Given the description of an element on the screen output the (x, y) to click on. 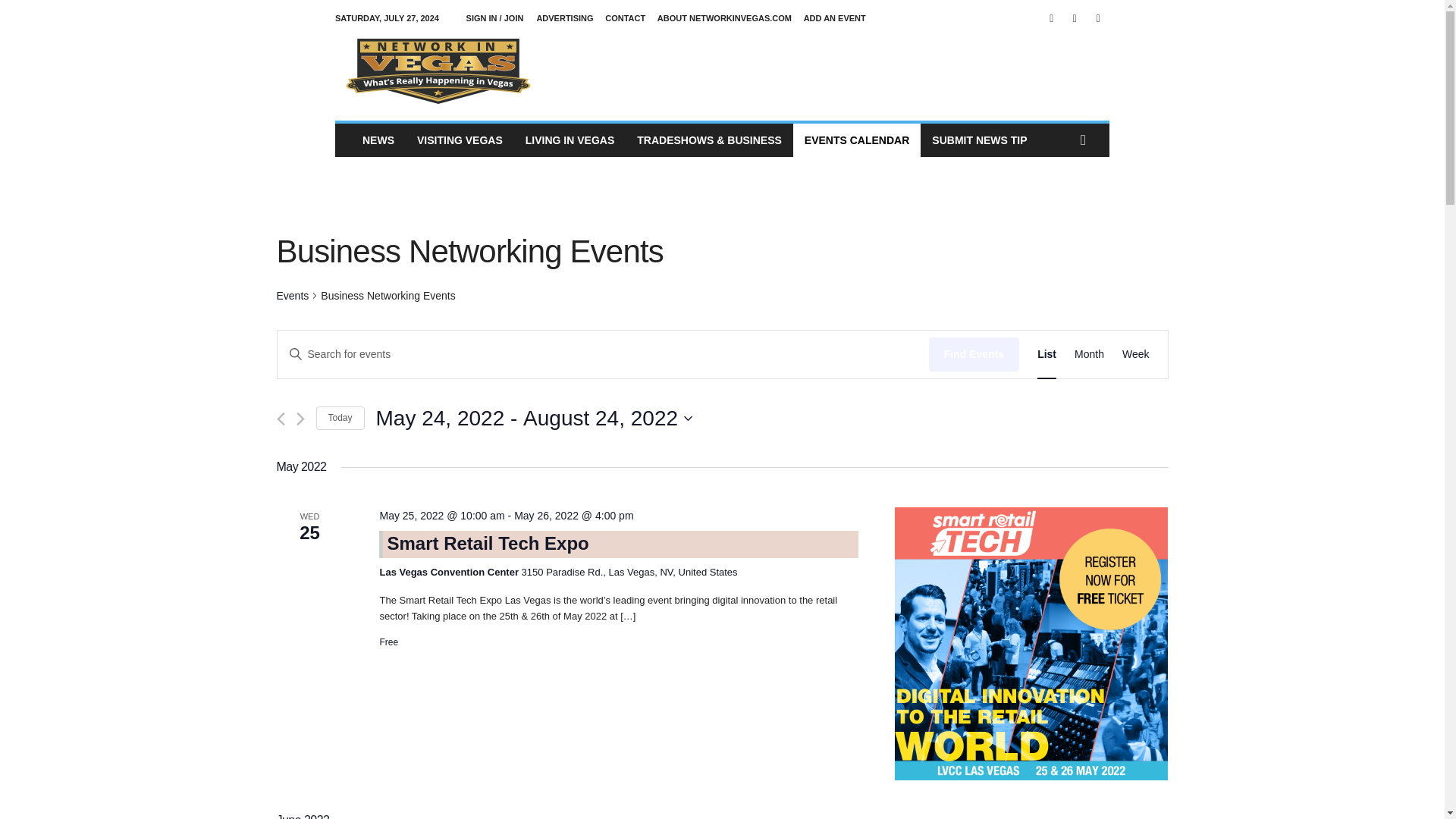
Instagram (1074, 18)
List (1046, 354)
Find Events (973, 354)
VISITING VEGAS (459, 140)
Previous Events (279, 418)
LIVING IN VEGAS (569, 140)
ADVERTISING (563, 17)
Smart Retail Tech Expo (1031, 643)
Events (292, 296)
EVENTS CALENDAR (856, 140)
List of events in Las Vegas (856, 140)
SUBMIT NEWS TIP (979, 140)
CONTACT (625, 17)
